Given the description of an element on the screen output the (x, y) to click on. 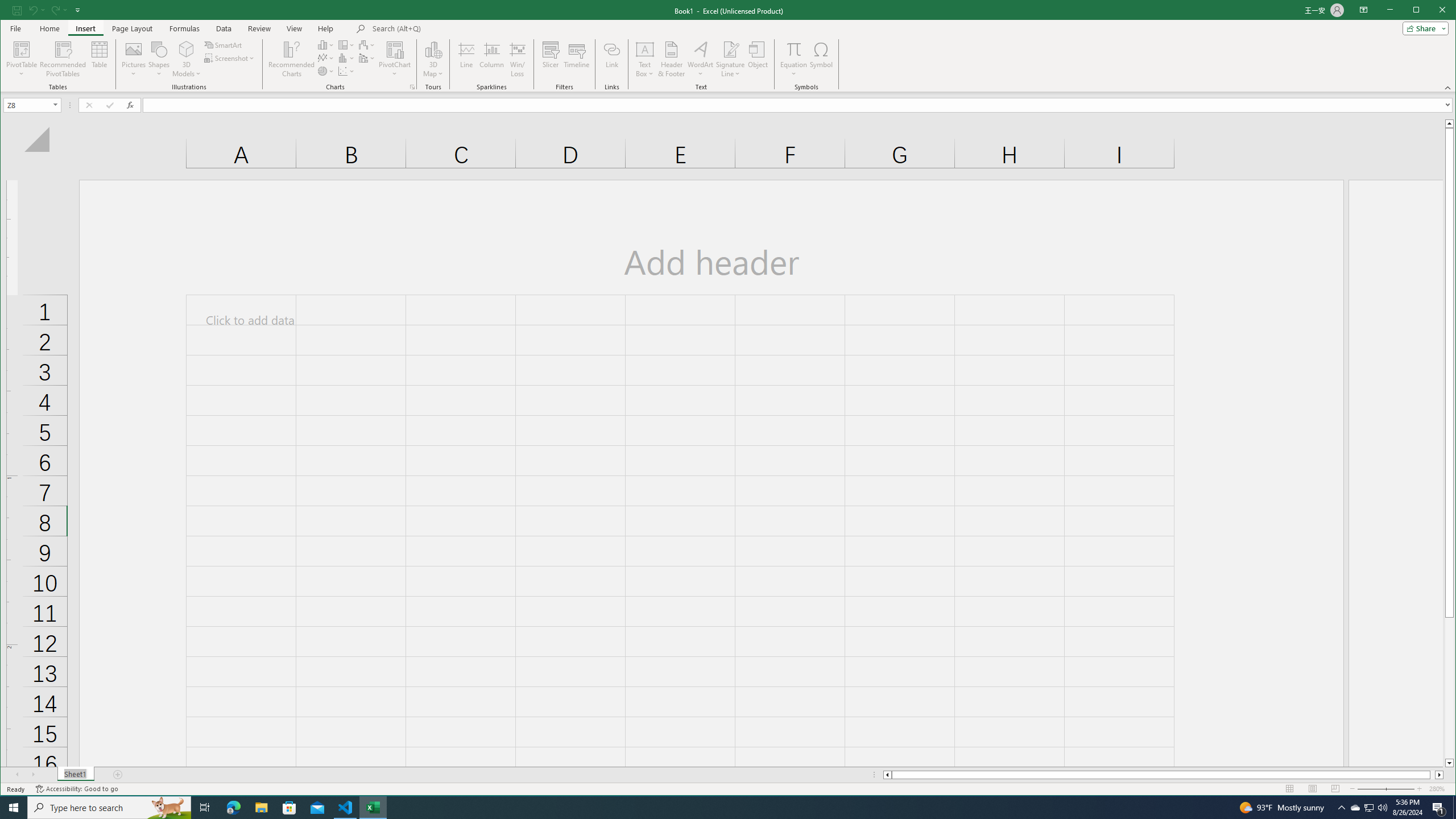
Page right (1432, 774)
Search highlights icon opens search home window (167, 807)
PivotChart (394, 48)
PivotTable (22, 48)
Task View (1368, 807)
Running applications (204, 807)
